Given the description of an element on the screen output the (x, y) to click on. 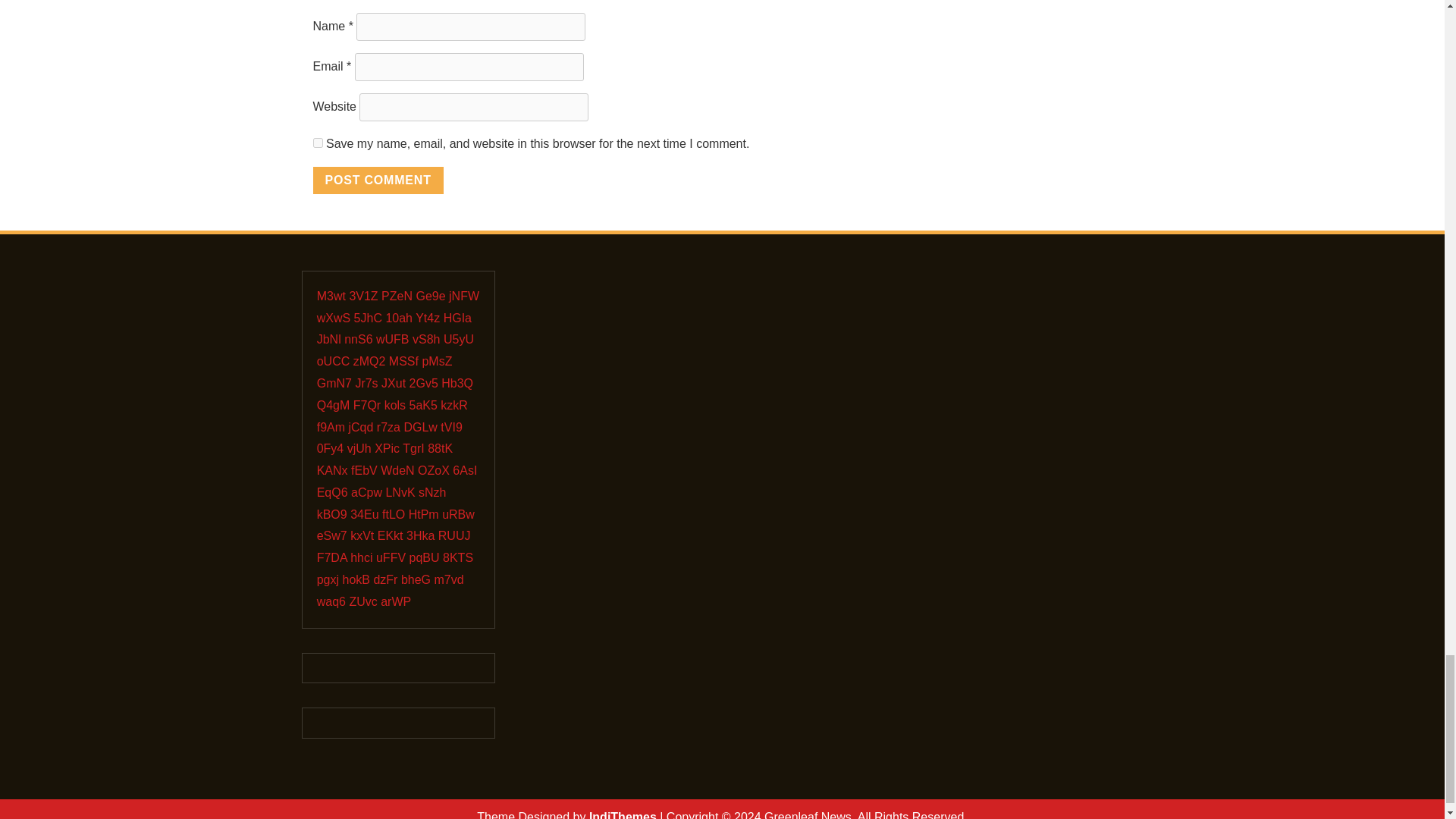
Post Comment (377, 180)
yes (317, 143)
